Given the description of an element on the screen output the (x, y) to click on. 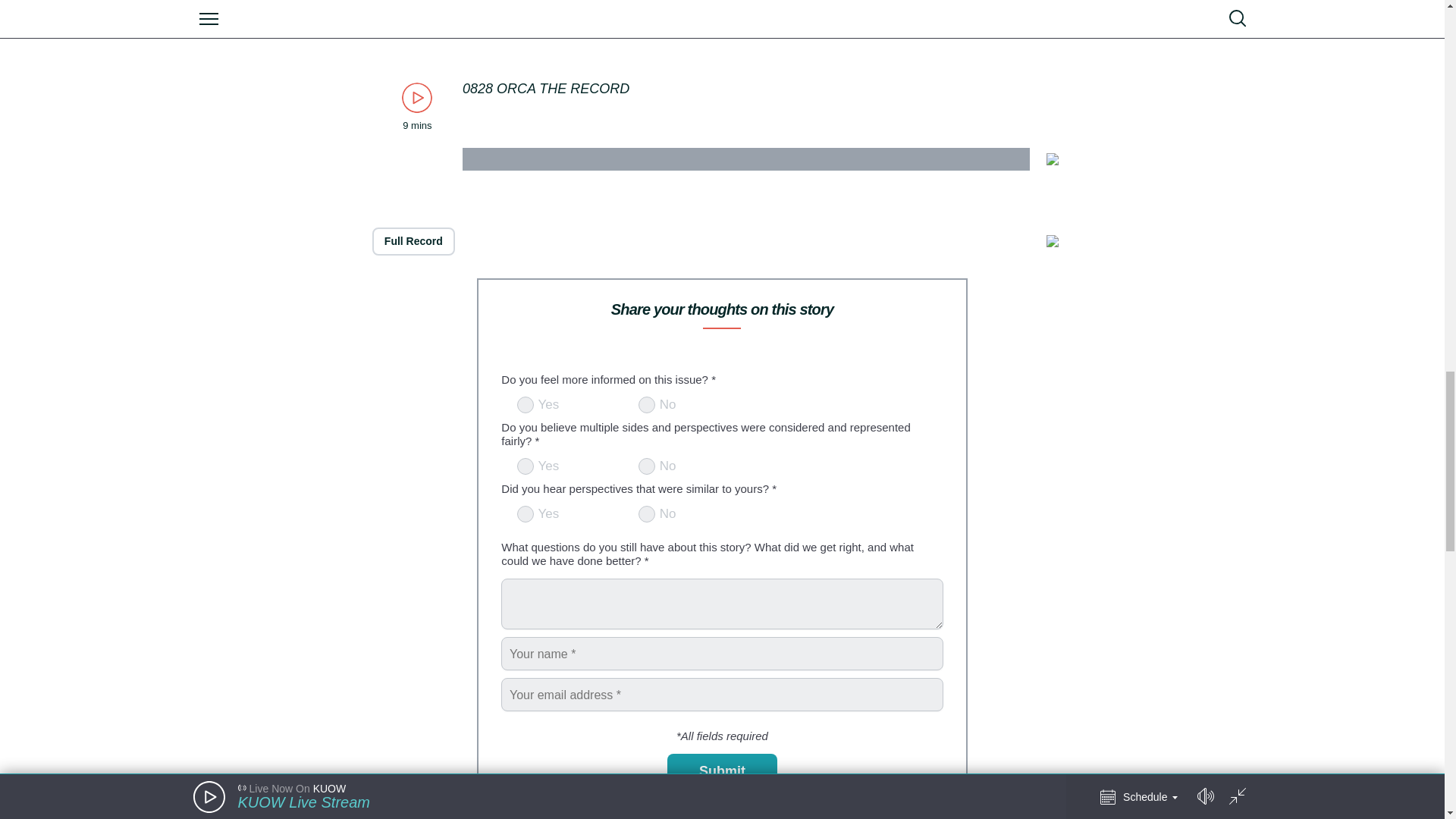
Submit (721, 771)
